Given the description of an element on the screen output the (x, y) to click on. 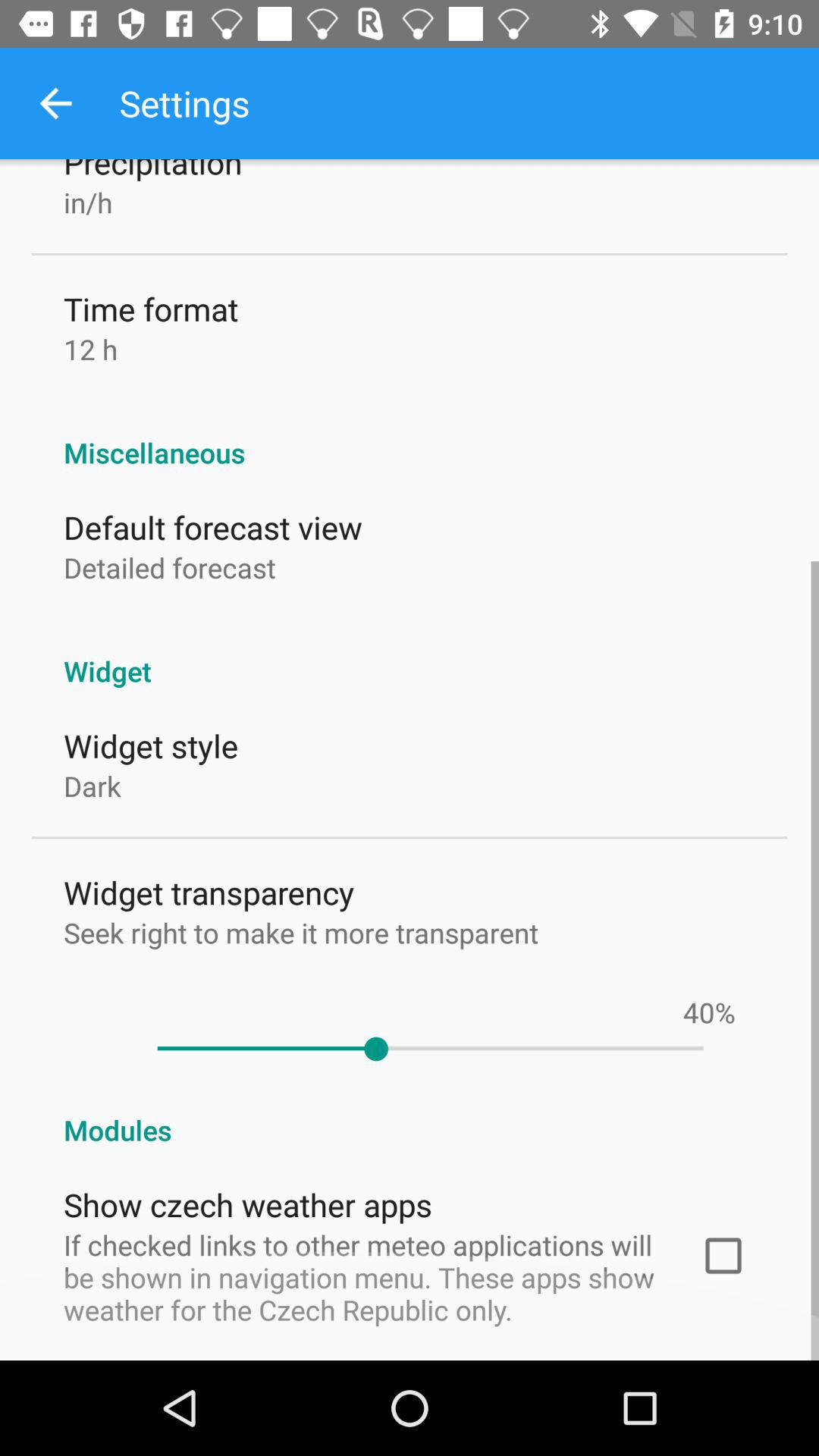
turn off the item above the miscellaneous (90, 348)
